Given the description of an element on the screen output the (x, y) to click on. 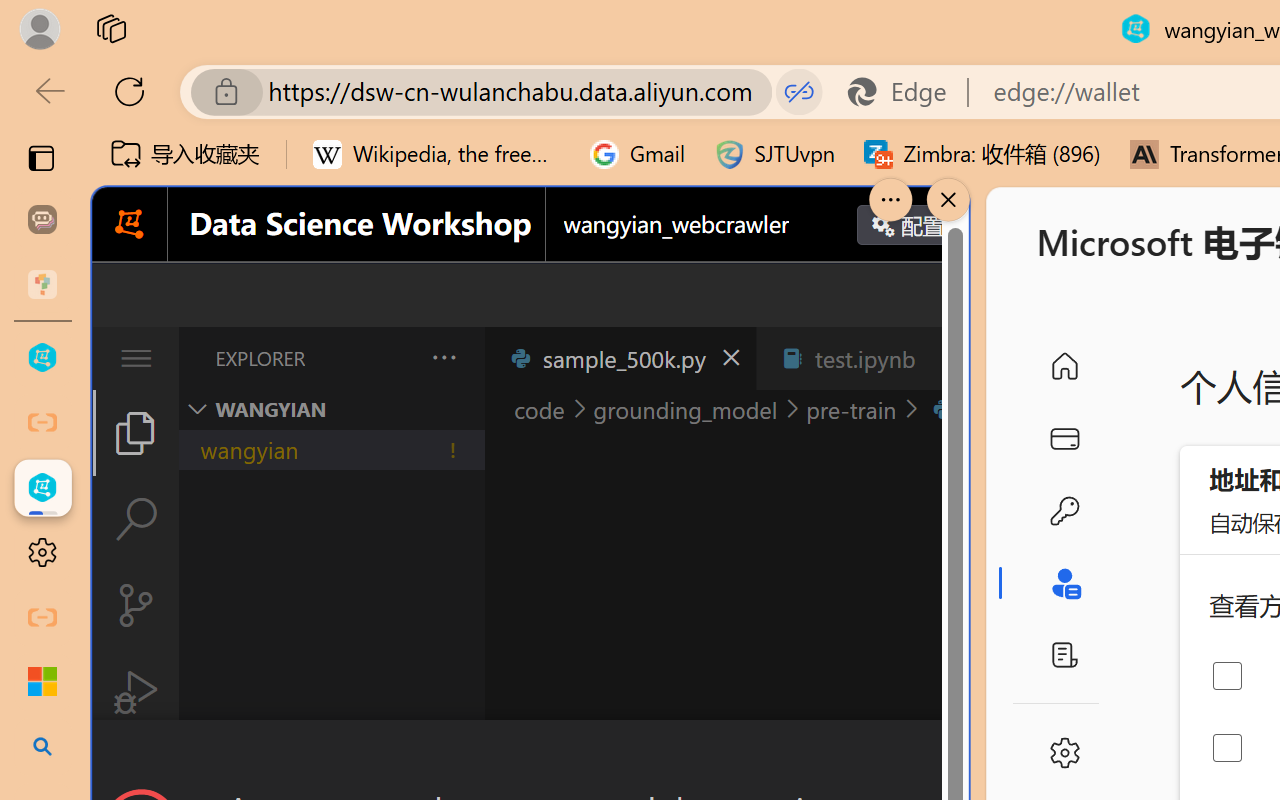
Class: menubar compact overflow-menu-only (135, 358)
Explorer (Ctrl+Shift+E) (135, 432)
Microsoft security help and learning (42, 681)
wangyian_webcrawler - DSW (42, 487)
Gmail (637, 154)
Views and More Actions... (442, 357)
Edge (905, 91)
